Given the description of an element on the screen output the (x, y) to click on. 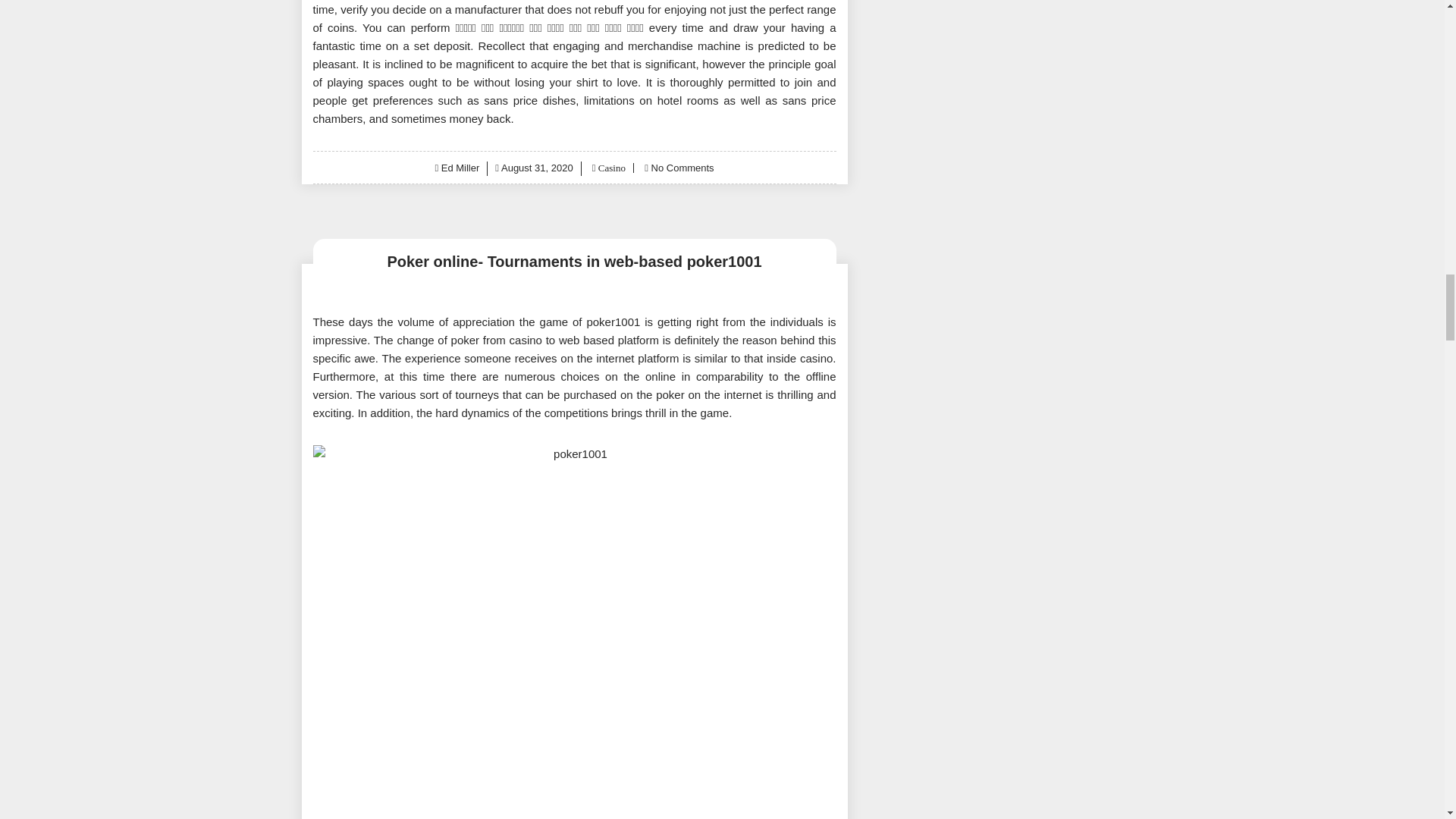
August 31, 2020 (536, 167)
Casino (610, 167)
Poker online- Tournaments in web-based poker1001 (574, 261)
Ed Miller (460, 167)
No Comments (682, 167)
